Given the description of an element on the screen output the (x, y) to click on. 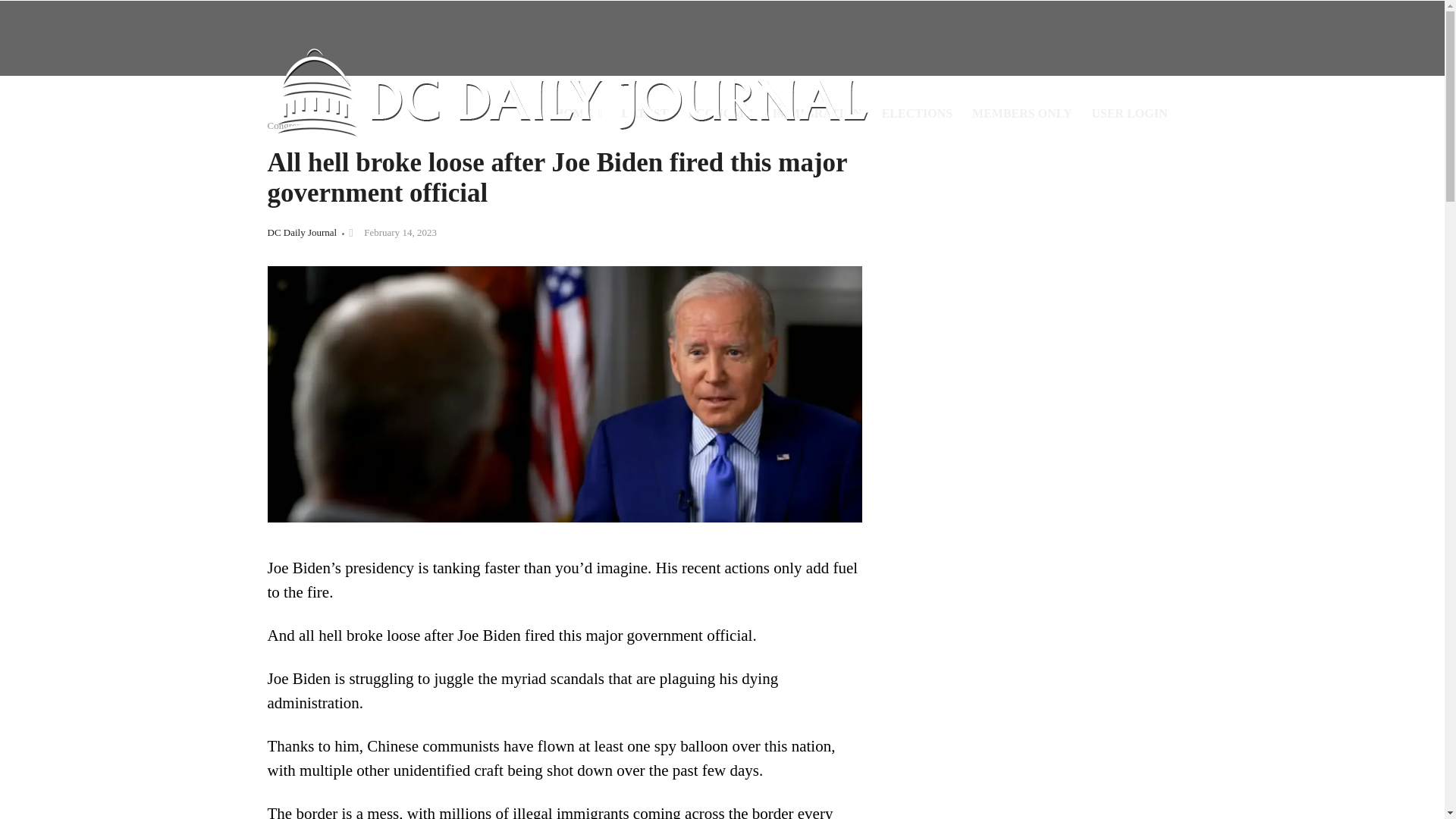
Congress (284, 125)
ECONOMY (719, 113)
USER LOGIN (1128, 113)
HOME (577, 113)
ELECTIONS (917, 113)
MEMBERS ONLY (1021, 113)
IMMIGRATION (817, 113)
